Given the description of an element on the screen output the (x, y) to click on. 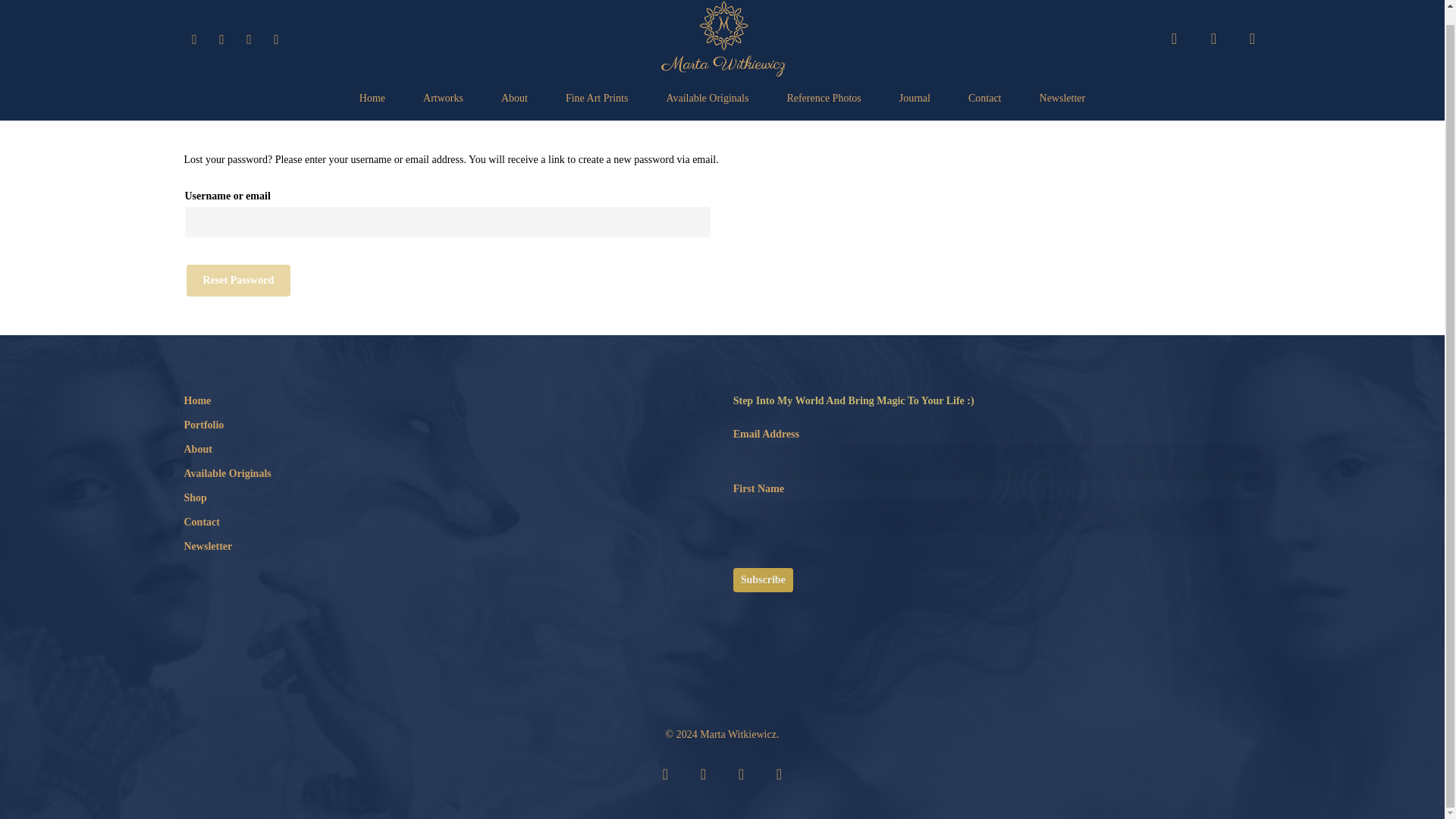
account (1213, 38)
Subscribe (763, 580)
Reset Password (238, 280)
Home (447, 401)
Shop (447, 497)
Reference Photos (823, 98)
Journal (914, 98)
Artworks (442, 98)
facebook (702, 773)
Contact (447, 522)
